Given the description of an element on the screen output the (x, y) to click on. 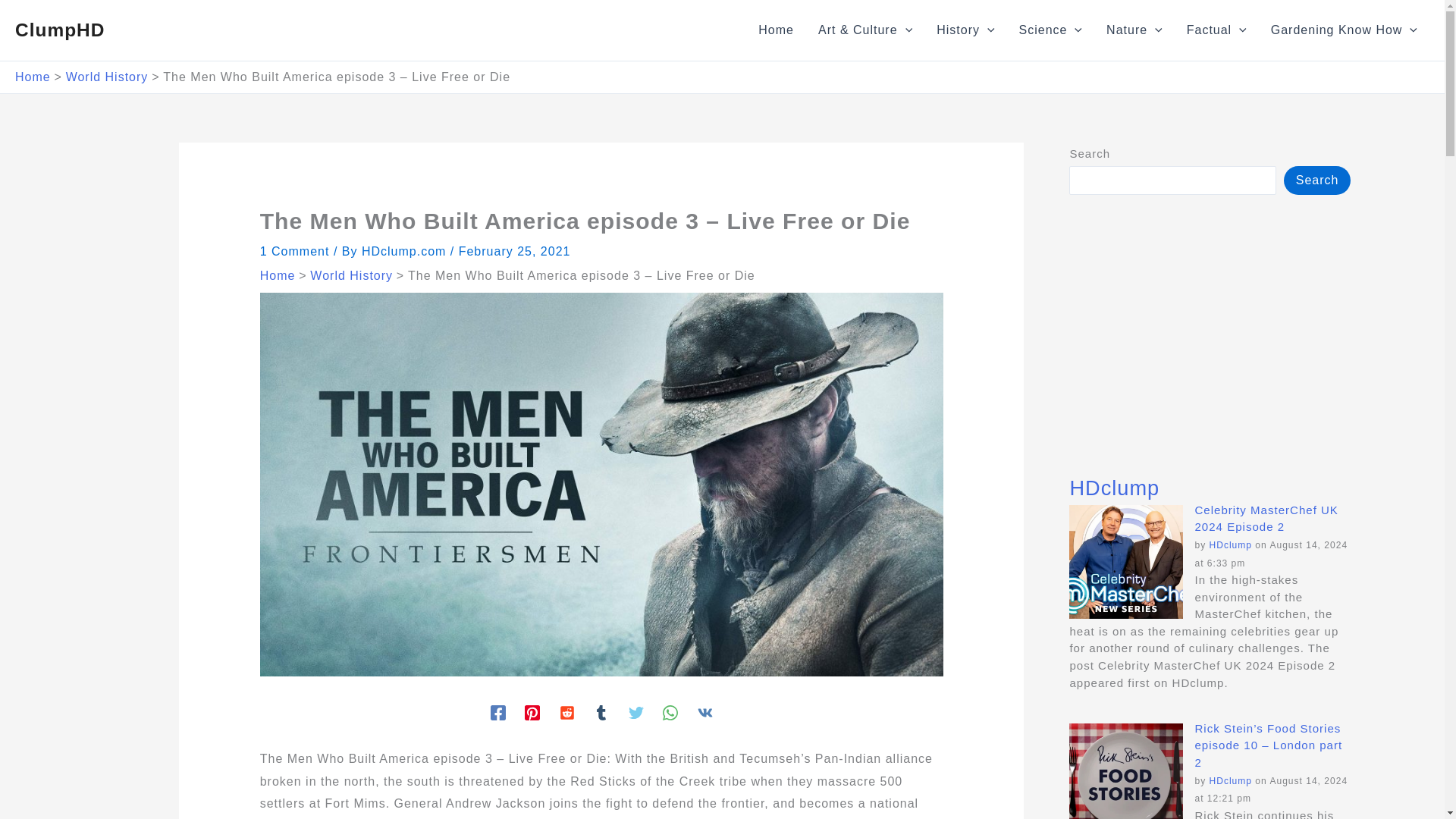
Science (1050, 30)
History (965, 30)
View all posts by HDclump.com (405, 250)
Gardening Know How (1344, 30)
Advertisement (1208, 335)
Factual (1216, 30)
Home (775, 30)
Celebrity MasterChef UK 2024 Episode 2 (1125, 562)
hdclump.com (1230, 780)
ClumpHD (59, 29)
